Given the description of an element on the screen output the (x, y) to click on. 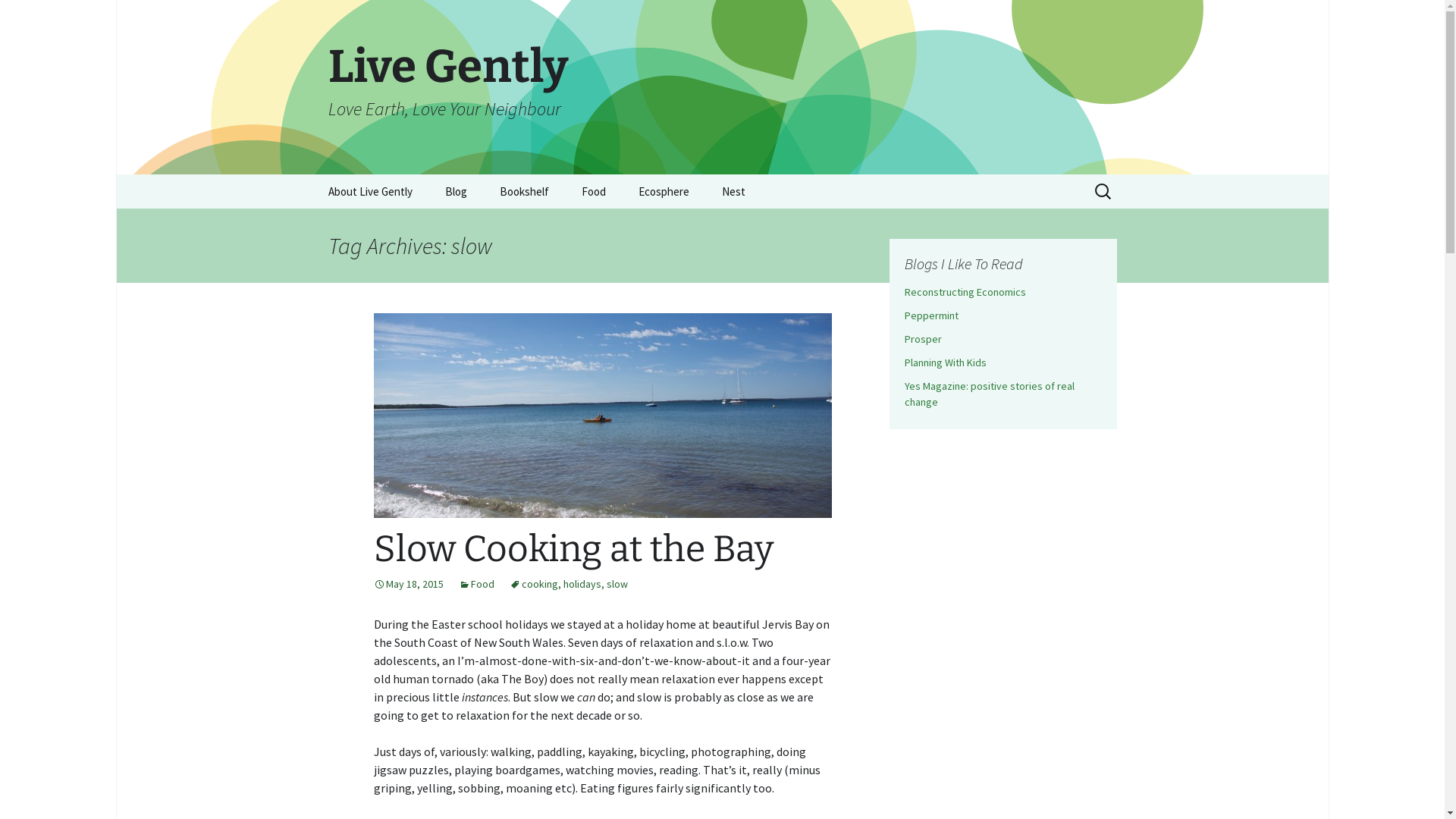
Search Element type: text (18, 16)
Yes Magazine: positive stories of real change Element type: text (988, 393)
May 18, 2015 Element type: text (407, 583)
slow Element type: text (616, 583)
Food Element type: text (475, 583)
Reconstructing Economics Element type: text (964, 291)
Peppermint Element type: text (930, 315)
cooking Element type: text (533, 583)
Slow Cooking at the Bay Element type: text (572, 549)
Planning With Kids Element type: text (944, 362)
Ecosphere Element type: text (663, 191)
Search Element type: text (34, 15)
Bookshelf Element type: text (523, 191)
About Live Gently Element type: text (369, 191)
Nest Element type: text (733, 191)
Live Gently
Love Earth, Love Your Neighbour Element type: text (721, 87)
Skip to content Element type: text (312, 173)
Blog Element type: text (455, 191)
Food Element type: text (592, 191)
Prosper Element type: text (922, 338)
holidays Element type: text (581, 583)
